Given the description of an element on the screen output the (x, y) to click on. 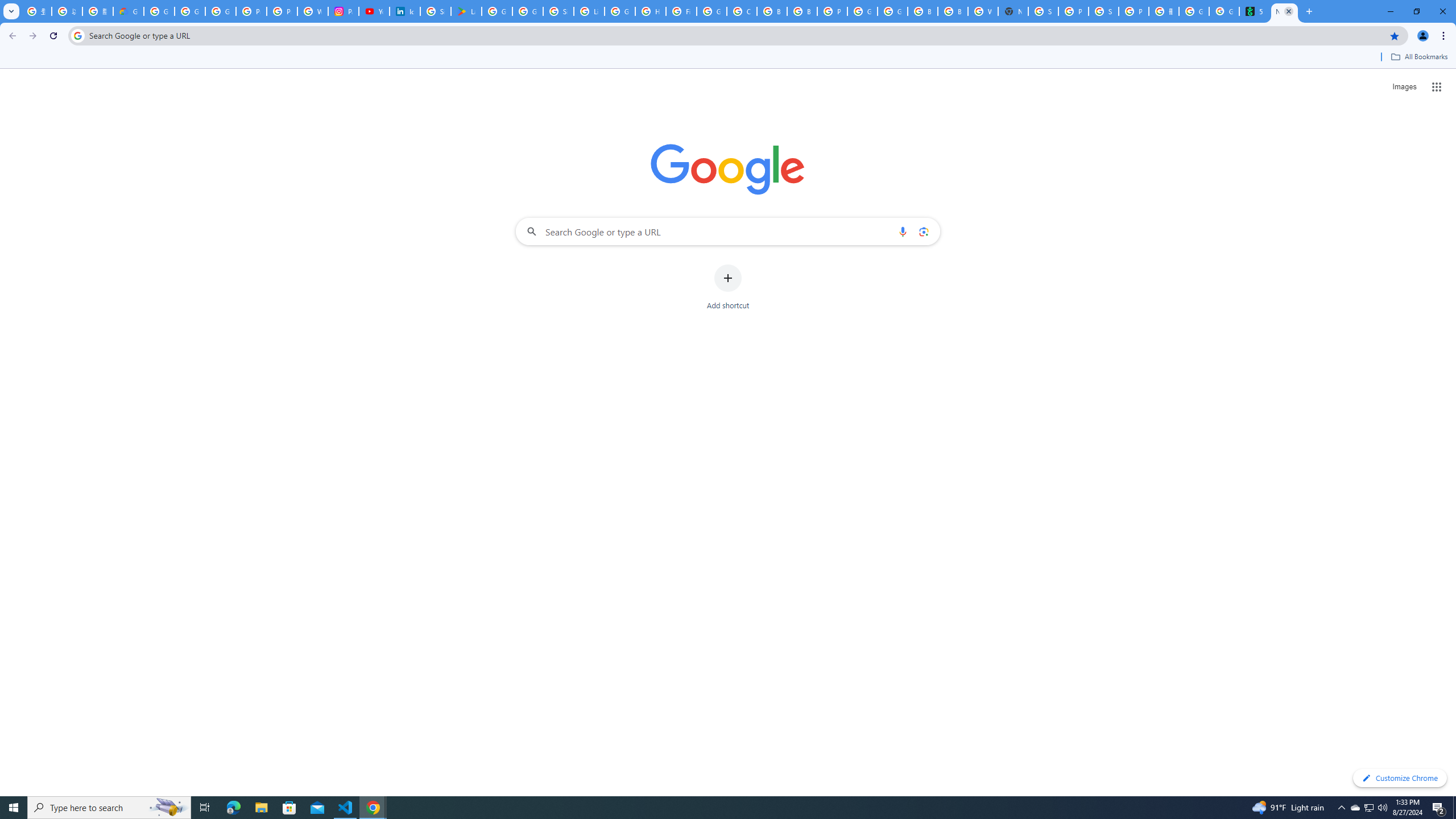
All Bookmarks (1418, 56)
Google Cloud Platform (862, 11)
Add shortcut (727, 287)
